Given the description of an element on the screen output the (x, y) to click on. 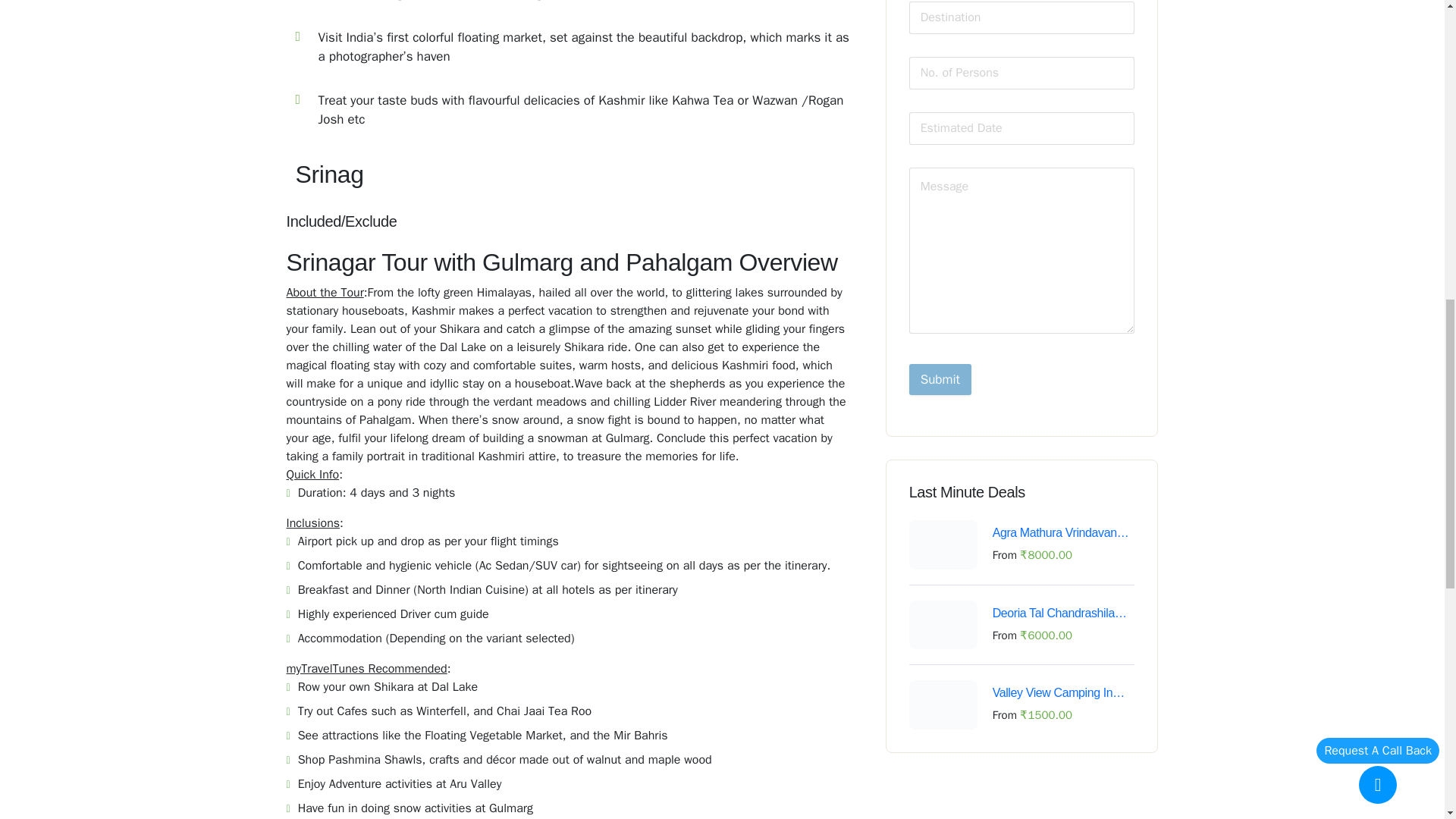
Srinagar Tour with Gulmarg and Pahalgam Highlights (574, 74)
Srinagar Tour with Gulmarg and Pahalgam Overview (574, 174)
